Given the description of an element on the screen output the (x, y) to click on. 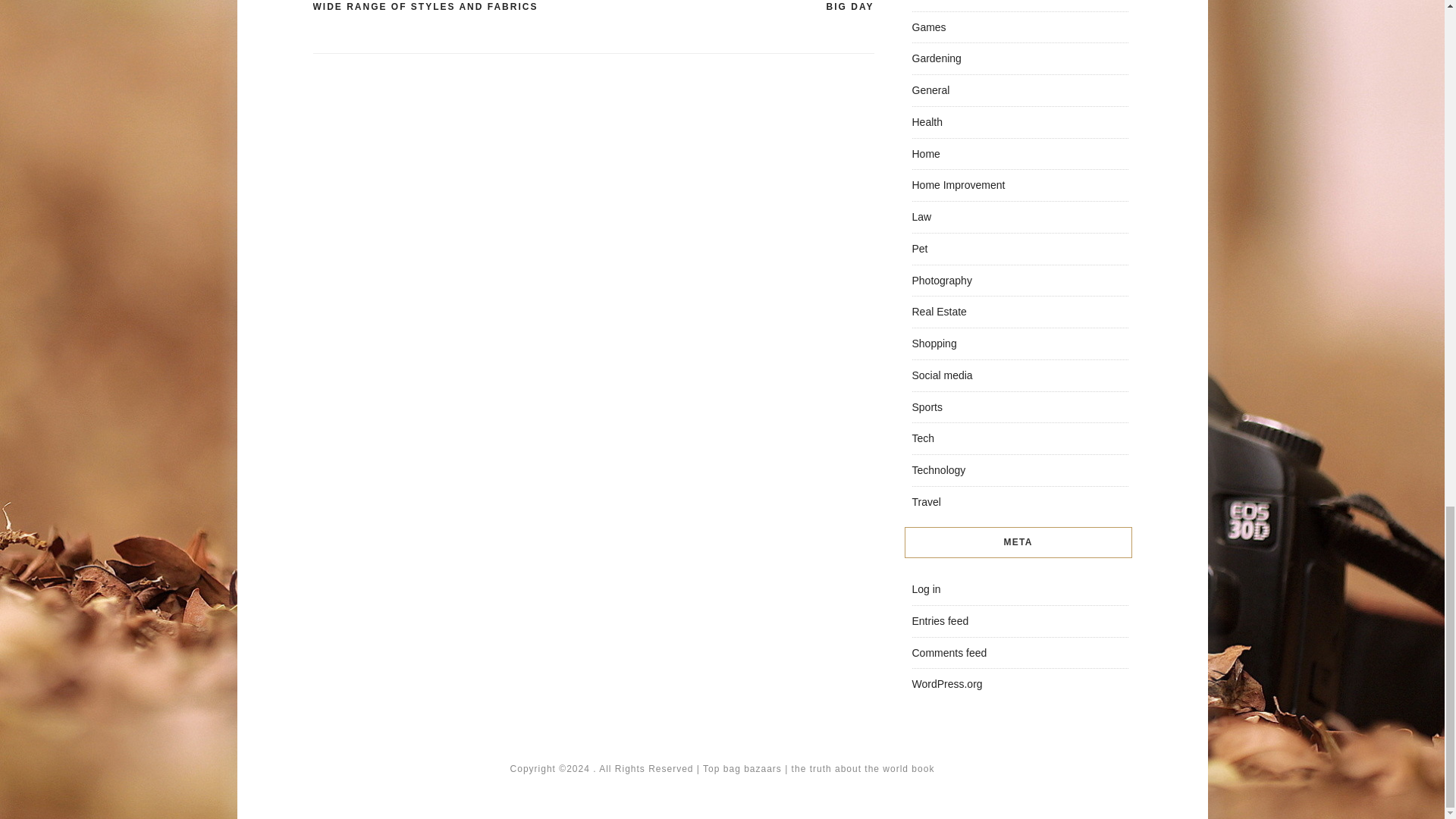
Food (923, 0)
THE MOST ELEGANT WEDDING CAKE FOR YOUR BIG DAY (732, 7)
General (930, 90)
Games (927, 27)
Gardening (935, 58)
